Given the description of an element on the screen output the (x, y) to click on. 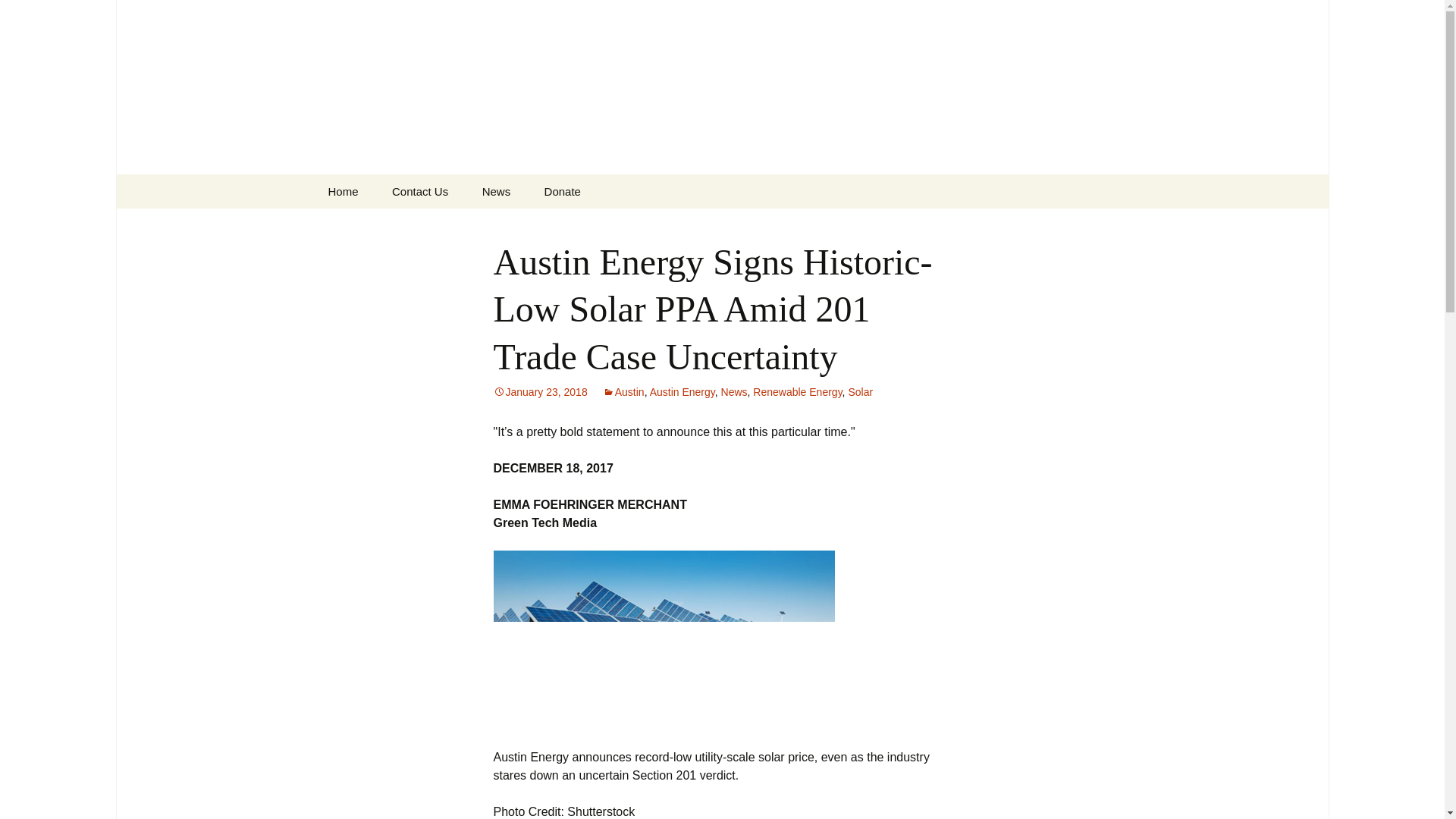
Solar (859, 391)
Home (342, 191)
Donate (562, 191)
Renewable Energy (796, 391)
Austin (623, 391)
Austin Energy (681, 391)
Contact Us (420, 191)
January 23, 2018 (539, 391)
Search (18, 15)
